Given the description of an element on the screen output the (x, y) to click on. 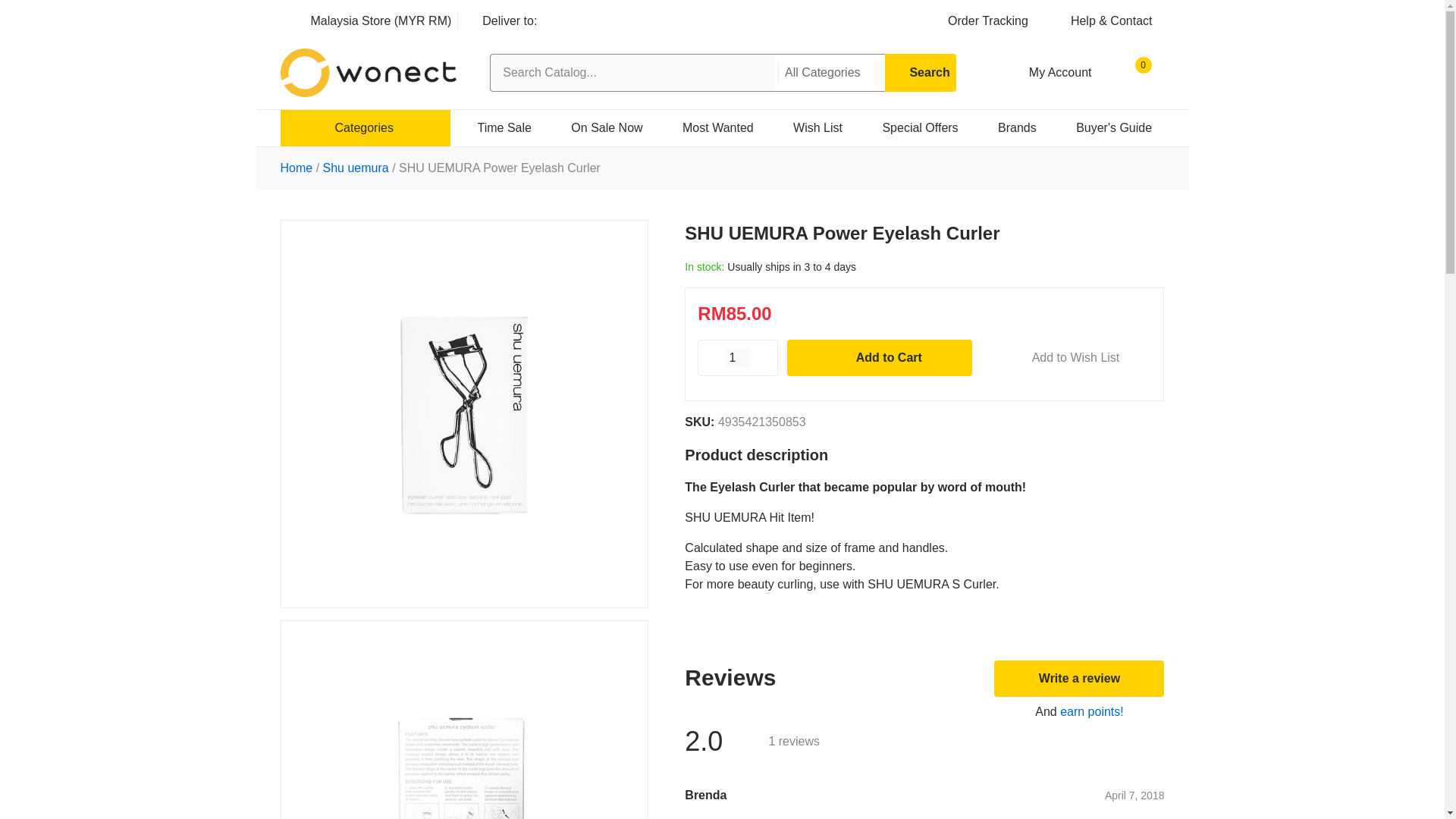
Add to Wish List (1066, 357)
Most Wanted (710, 127)
Categories (365, 127)
Time Sale (496, 127)
Wish List (809, 127)
Write a review (1078, 678)
Buyer's Guide (1105, 127)
Add to Cart (879, 357)
Home (298, 167)
Help and Contact (1102, 20)
